Given the description of an element on the screen output the (x, y) to click on. 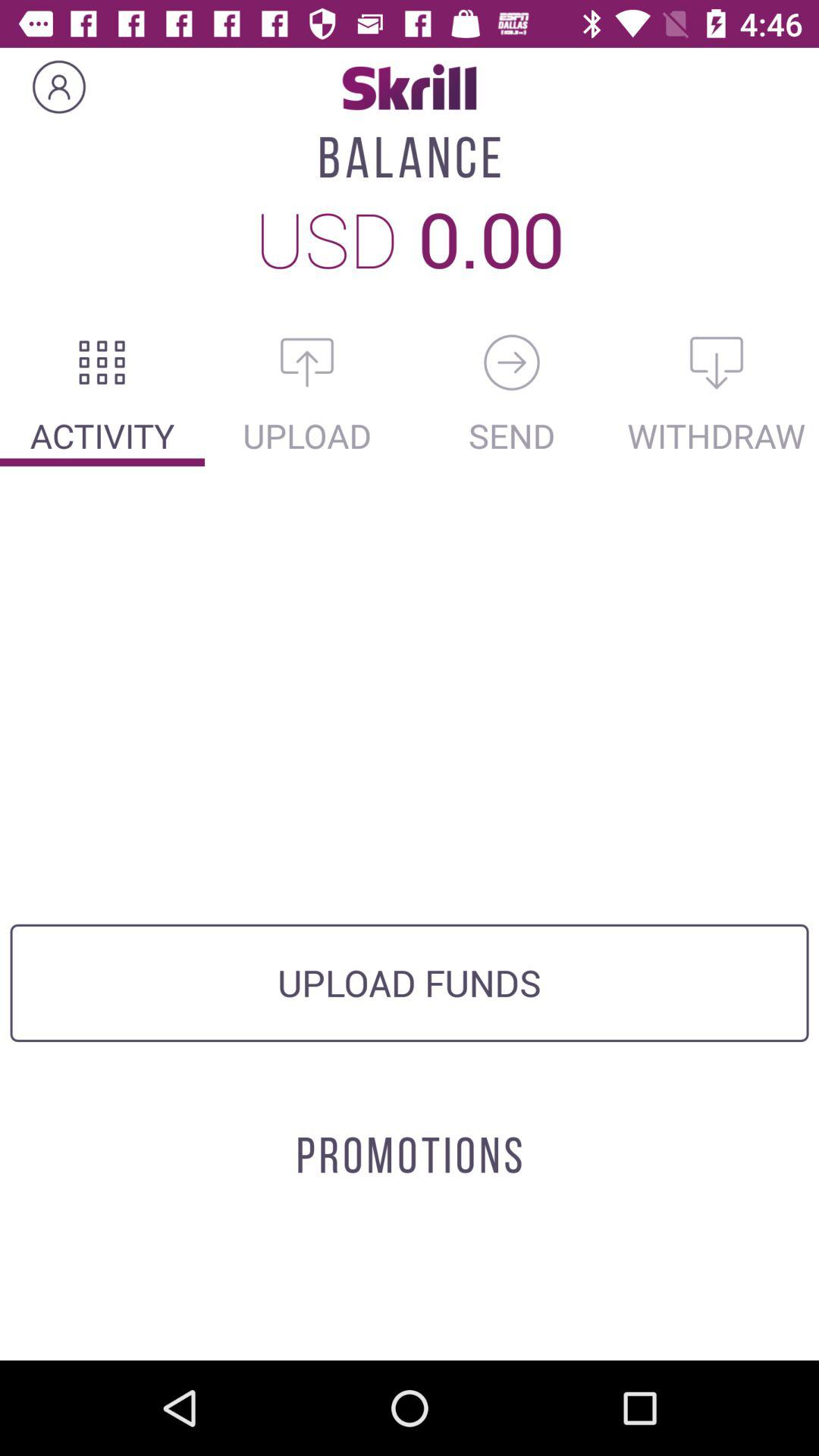
upload (306, 362)
